Given the description of an element on the screen output the (x, y) to click on. 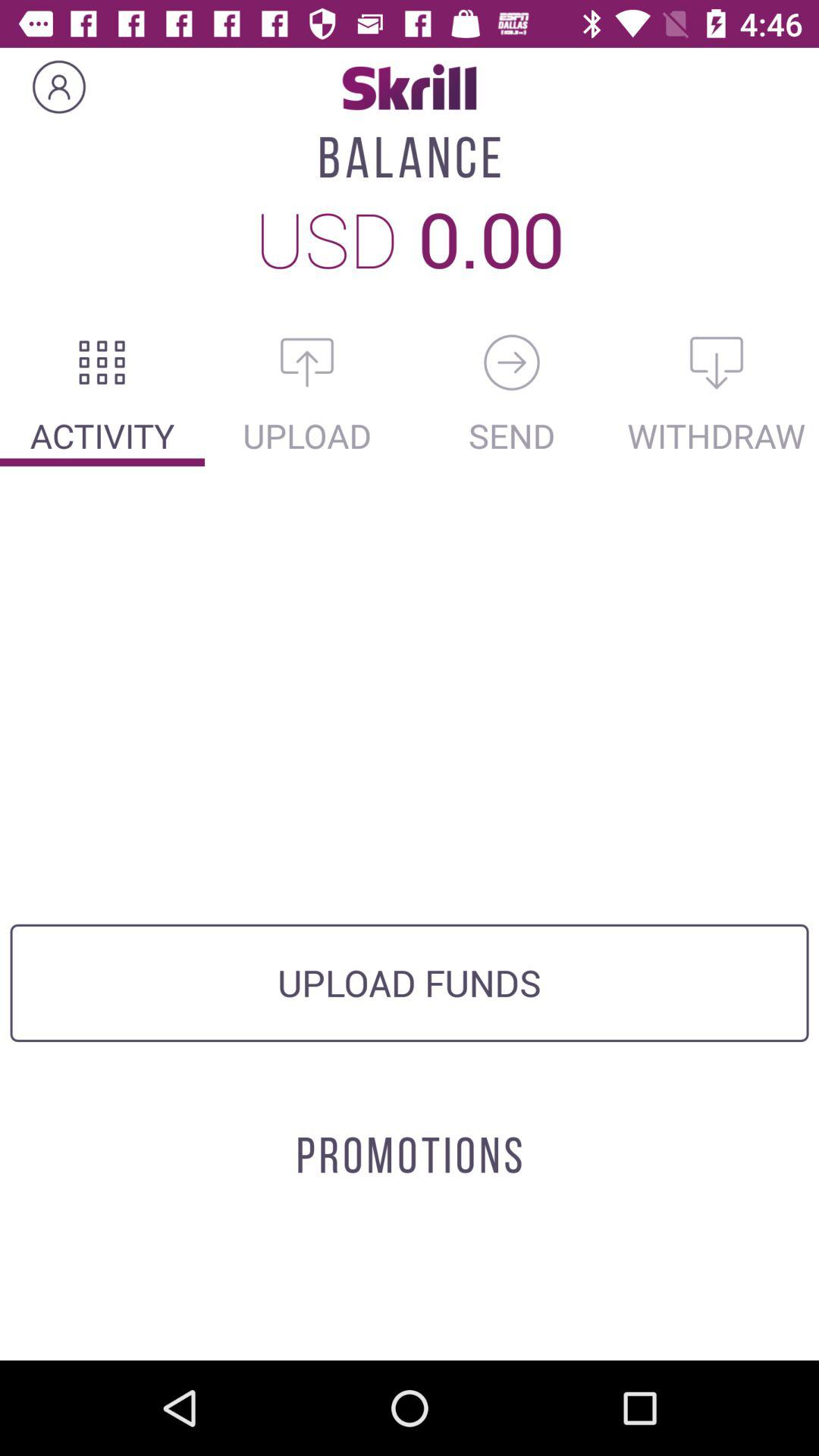
upload (306, 362)
